Given the description of an element on the screen output the (x, y) to click on. 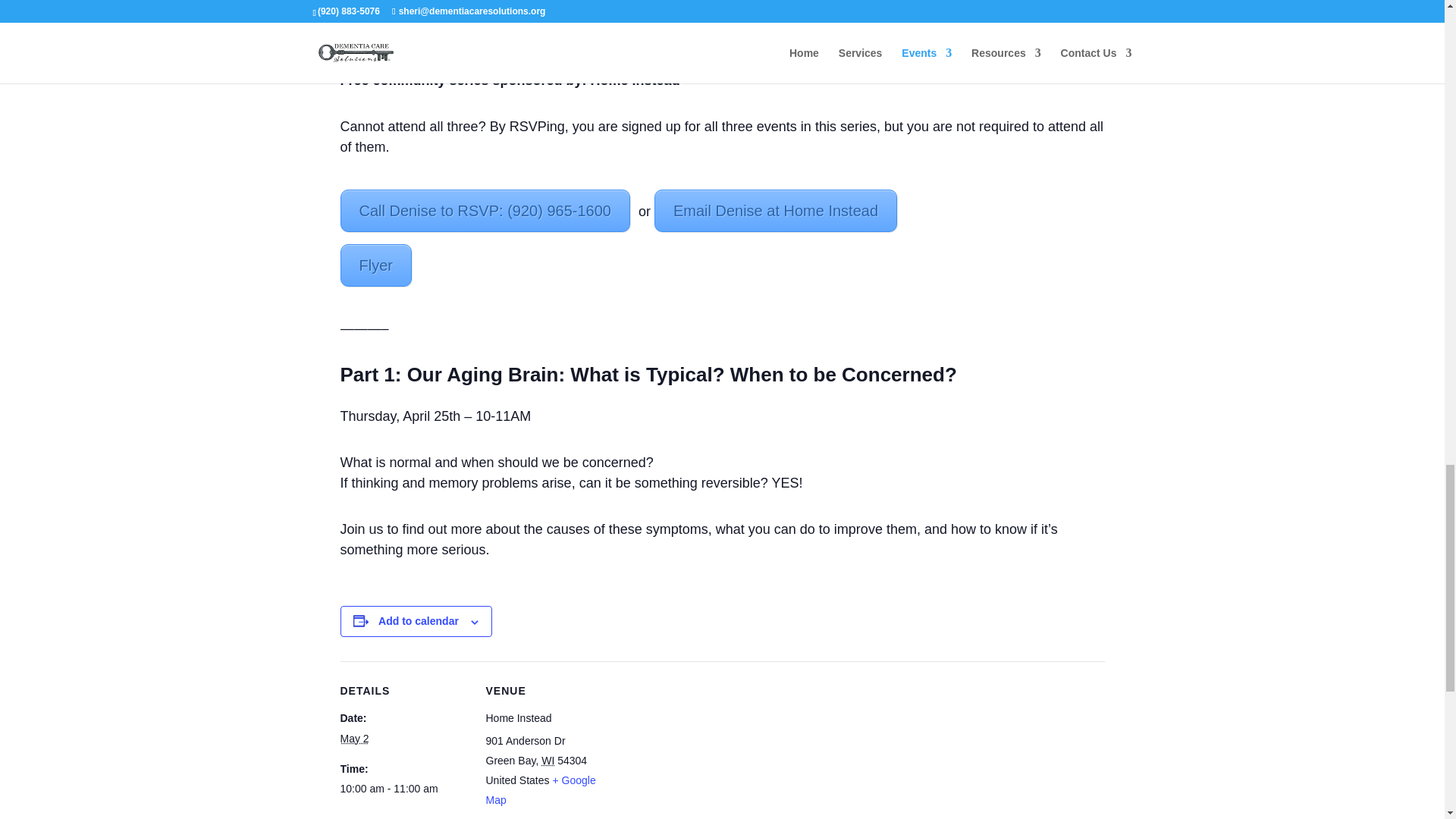
Email Denise at Home Instead (774, 210)
Google maps iframe displaying the address to Home Instead (710, 752)
2024-05-02 (403, 789)
Flyer (374, 265)
Wisconsin (547, 760)
Click to view a Google Map (539, 789)
Add to calendar (418, 621)
2024-05-02 (353, 738)
